Given the description of an element on the screen output the (x, y) to click on. 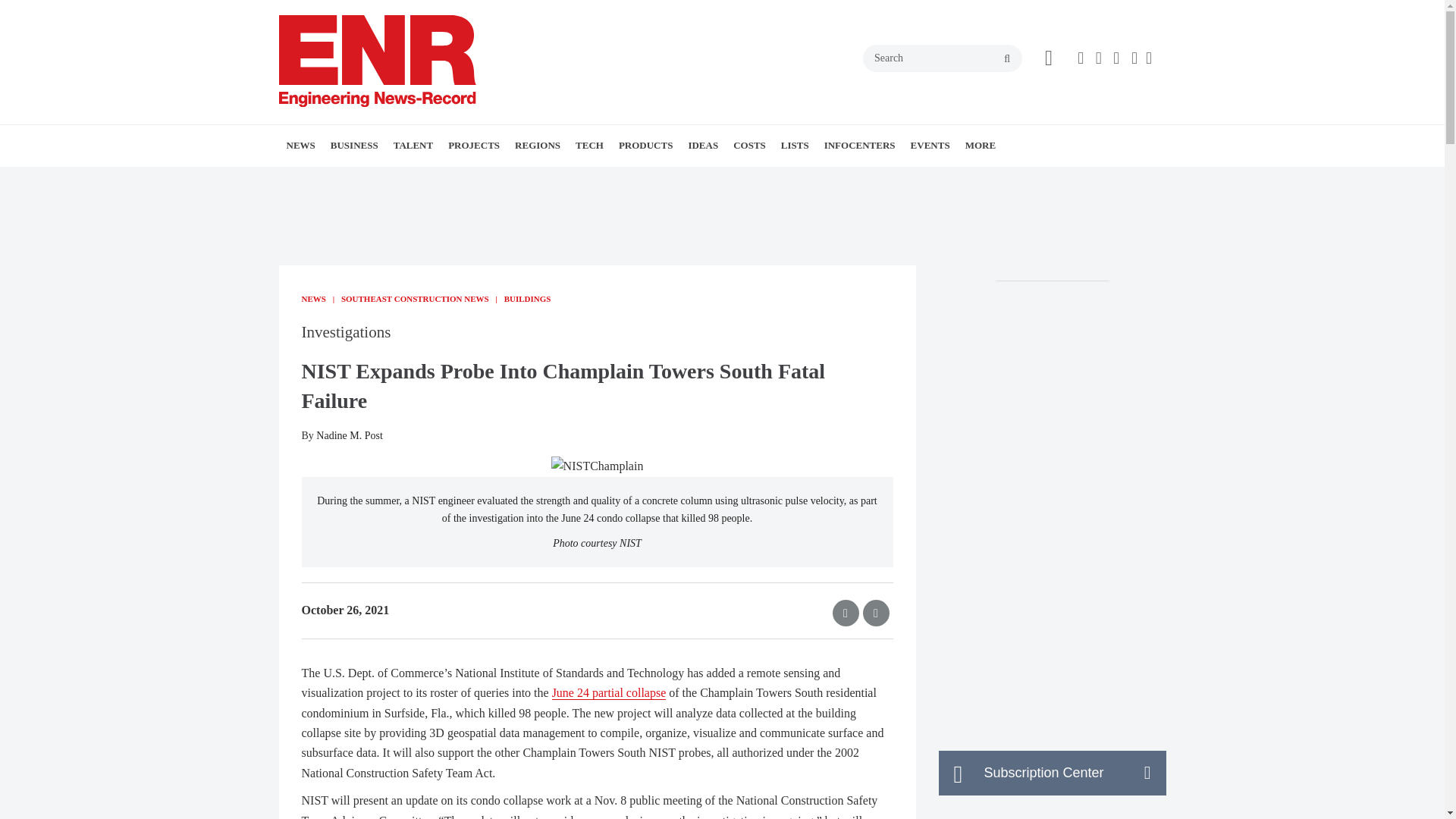
PROJECTS (473, 145)
WORKFORCE (424, 179)
PROJECT DELIVERY (445, 179)
CONSTRUCTION METHODS (542, 179)
ANNUAL PHOTO CONTEST (499, 179)
DIVERSITY AND INCLUSION (430, 179)
Search (942, 58)
OBITUARIES (493, 179)
COMPANIES (440, 179)
search (1006, 59)
